Given the description of an element on the screen output the (x, y) to click on. 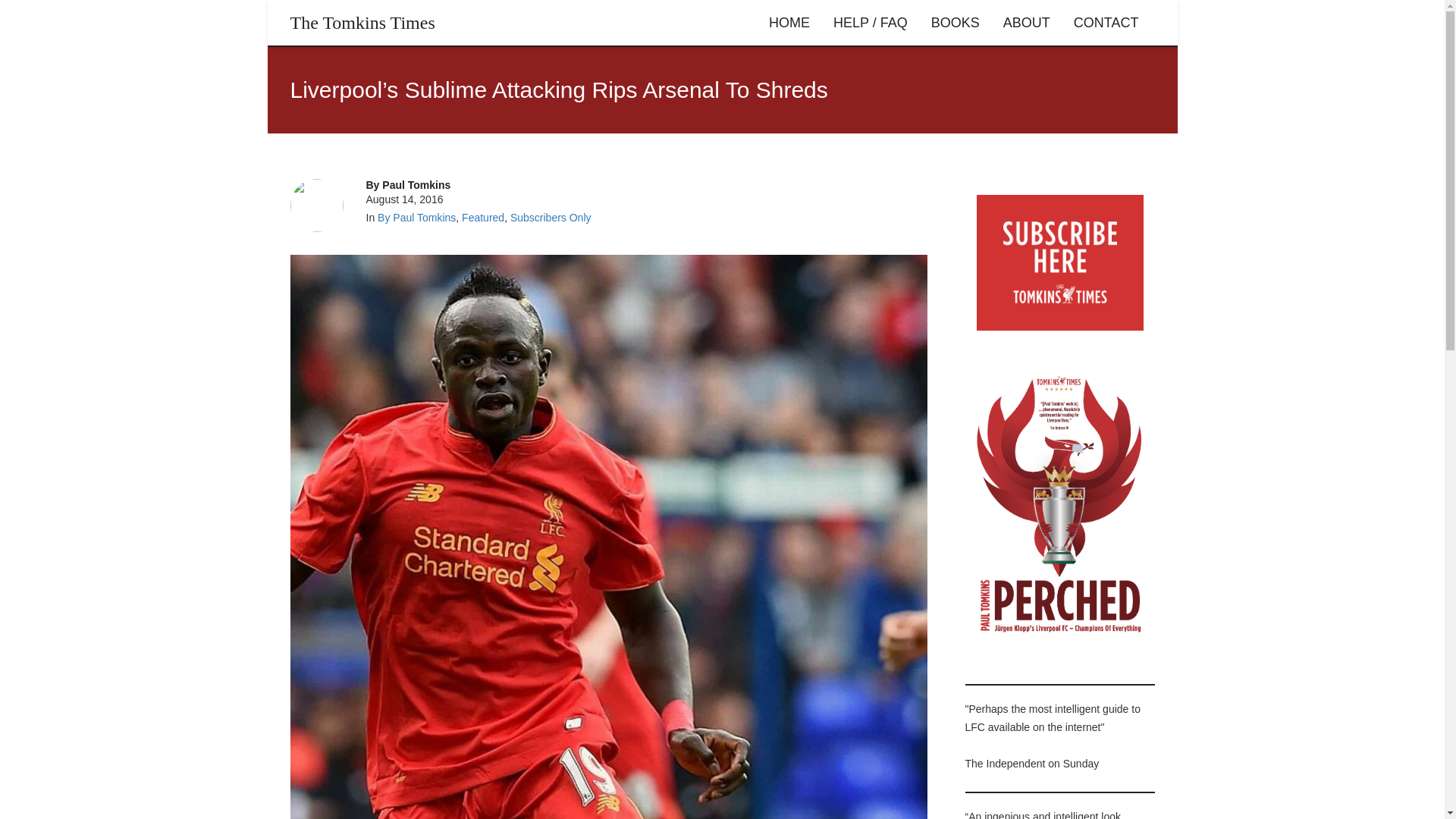
Subscribers Only (551, 217)
ABOUT (1026, 22)
The Tomkins Times (361, 22)
CONTACT (1106, 22)
BOOKS (955, 22)
By Paul Tomkins (416, 217)
HOME (789, 22)
Featured (482, 217)
Paul Tomkins (415, 184)
